Given the description of an element on the screen output the (x, y) to click on. 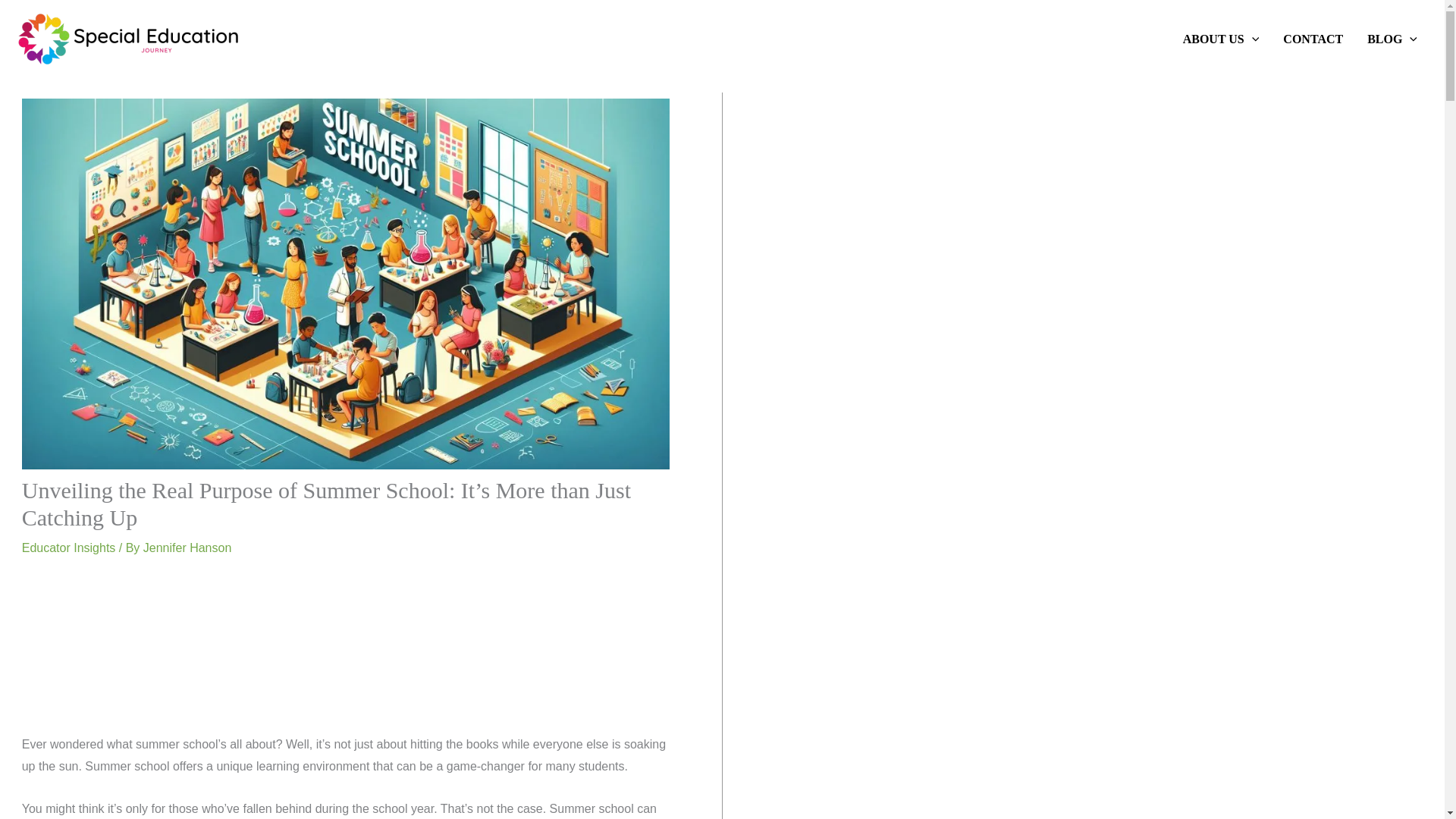
Advertisement (345, 652)
Educator Insights (68, 547)
View all posts by Jennifer Hanson (186, 547)
CONTACT (1313, 39)
Jennifer Hanson (186, 547)
ABOUT US (1220, 39)
BLOG (1392, 39)
